Given the description of an element on the screen output the (x, y) to click on. 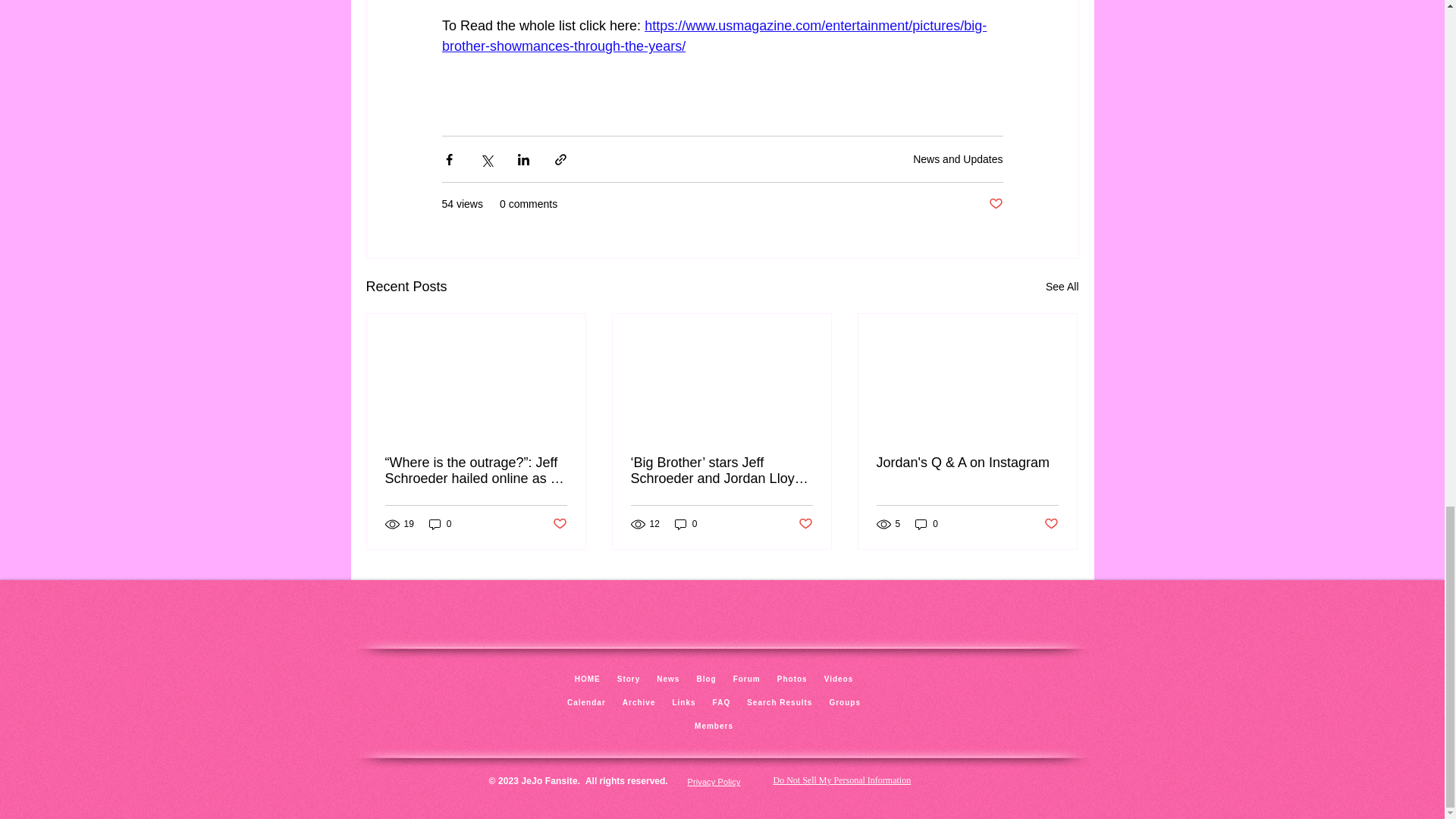
News and Updates (957, 159)
Post not marked as liked (995, 204)
